Given the description of an element on the screen output the (x, y) to click on. 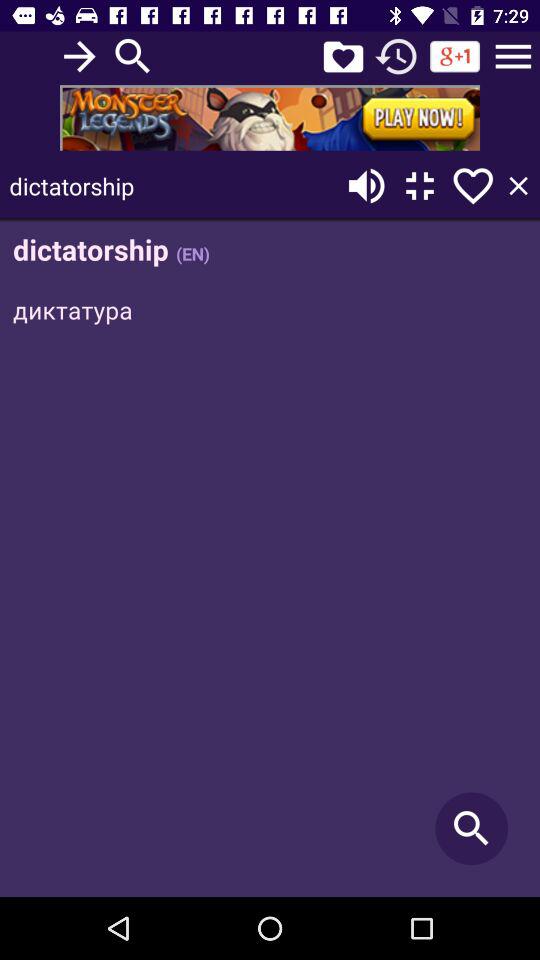
for volume (366, 185)
